Given the description of an element on the screen output the (x, y) to click on. 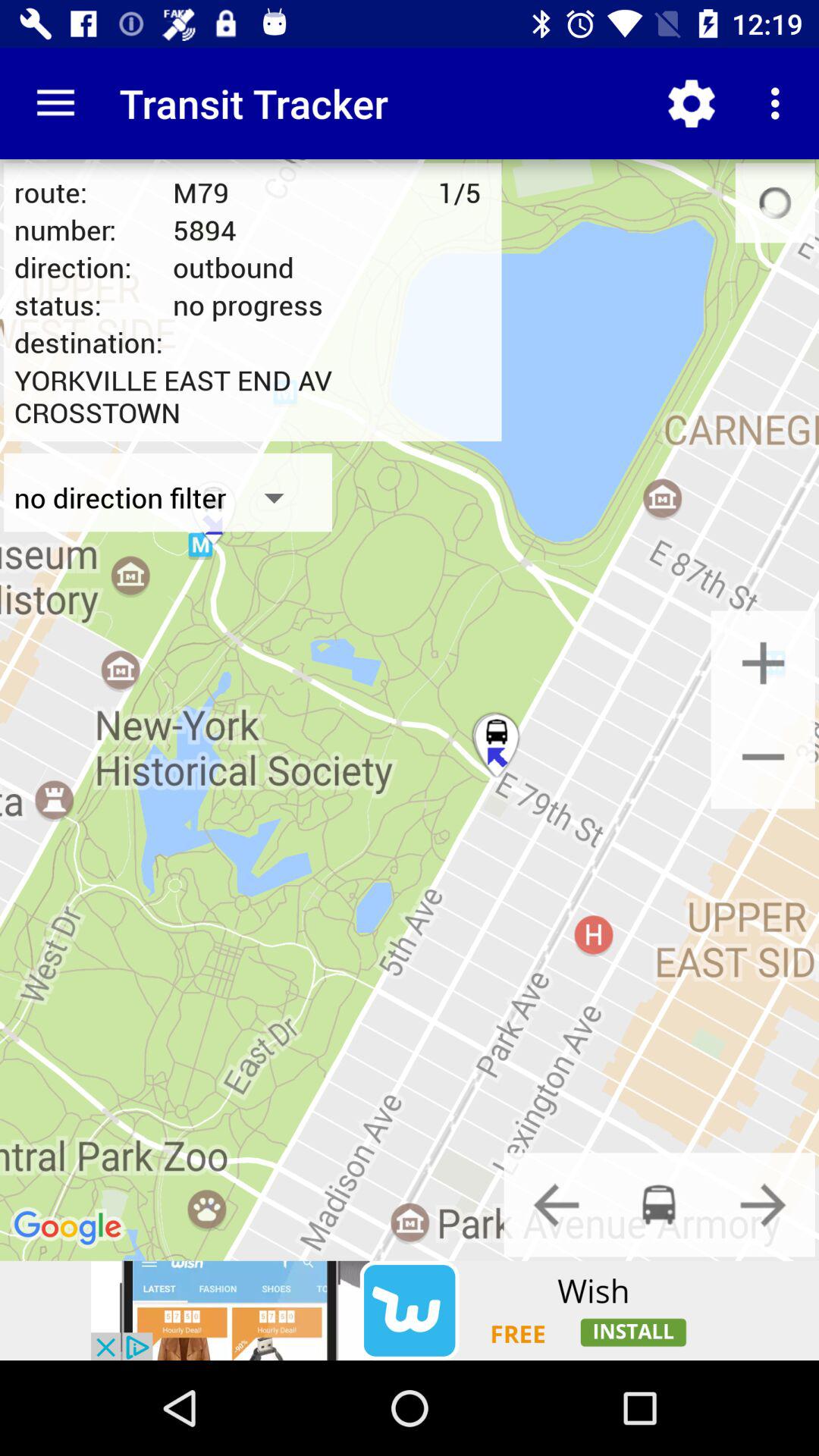
an arrow for selection (555, 1204)
